Given the description of an element on the screen output the (x, y) to click on. 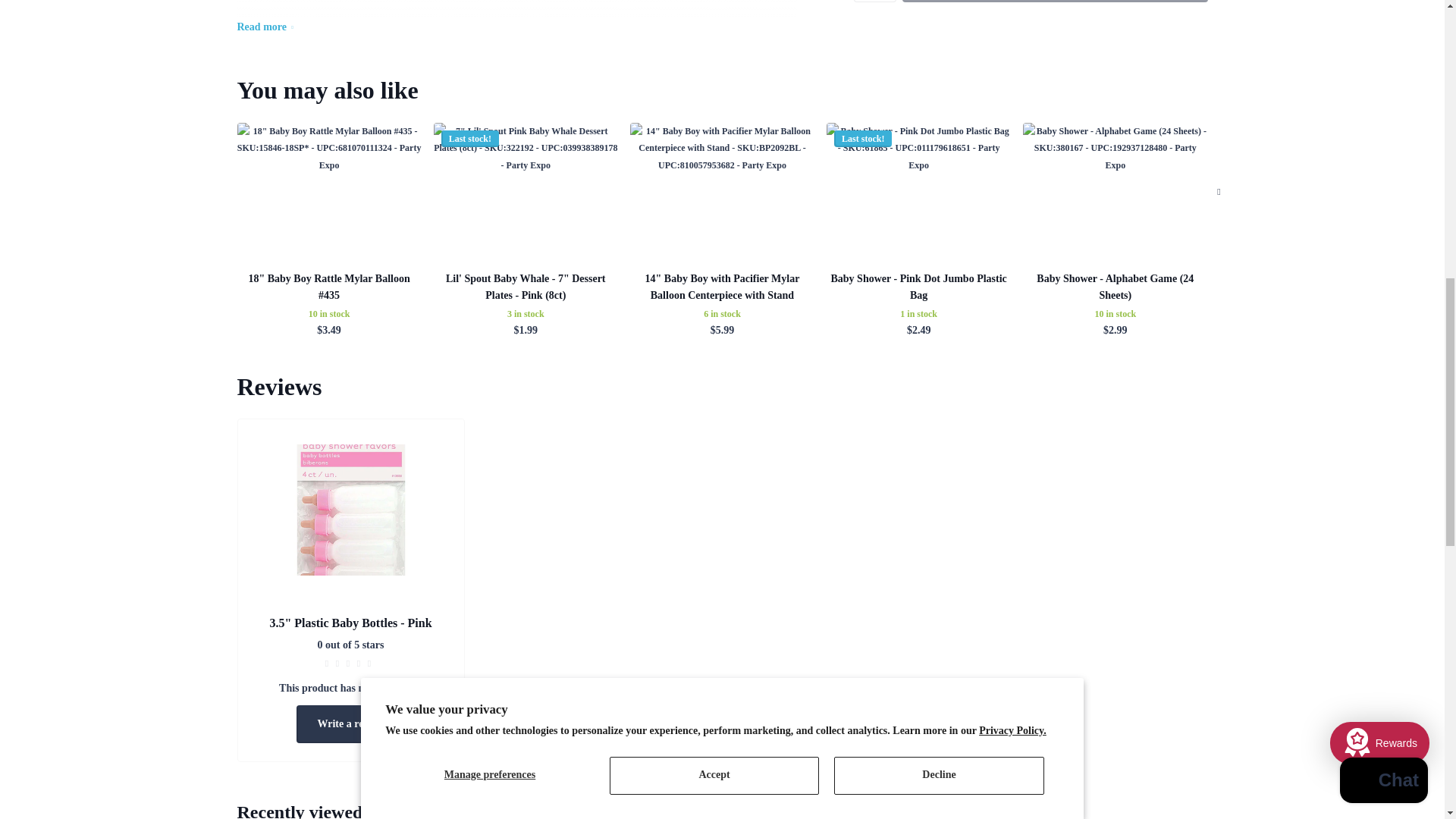
1 (874, 1)
